Given the description of an element on the screen output the (x, y) to click on. 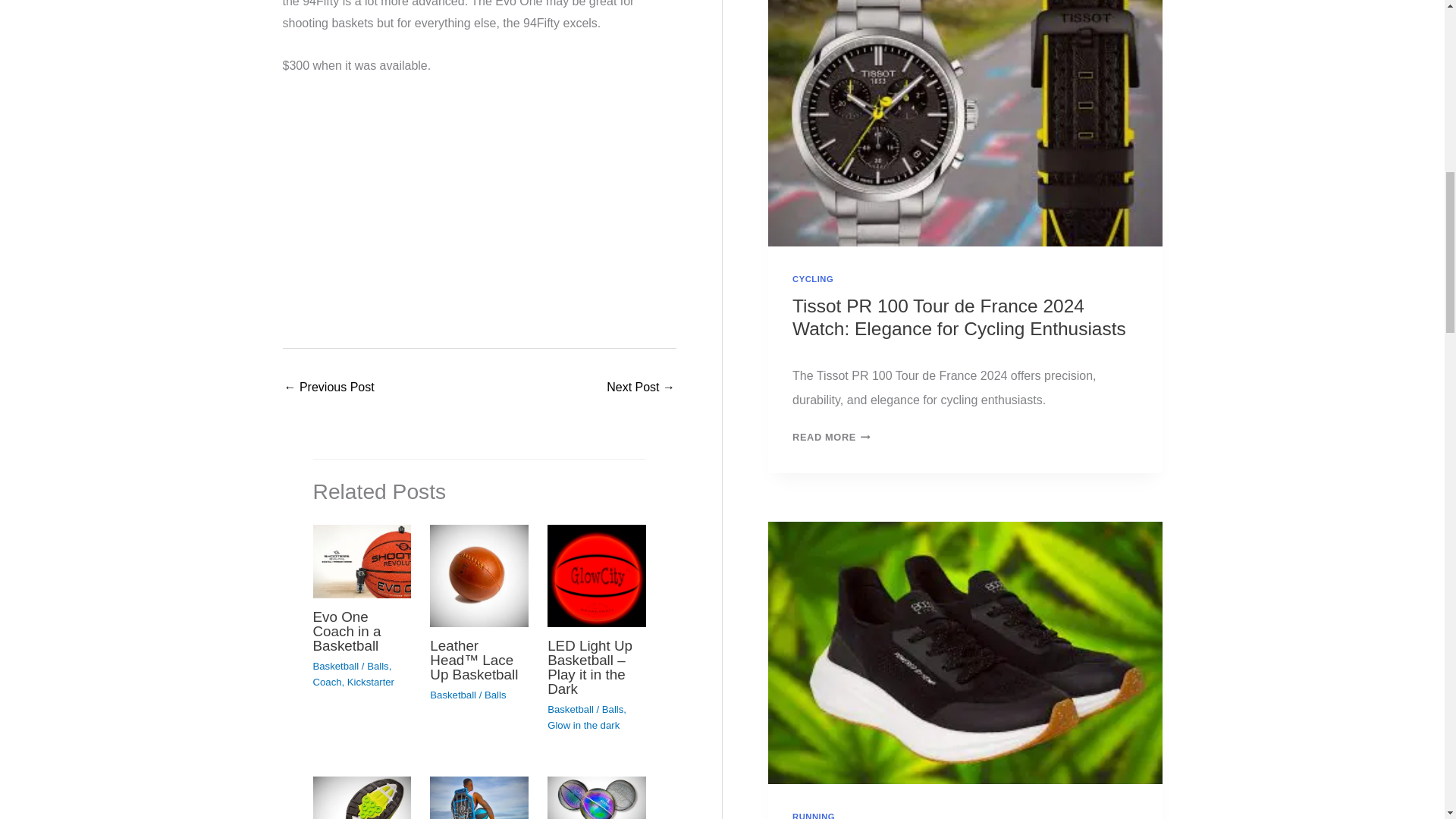
BlinkerGrips - Bicycle Grip Signal Lights (328, 388)
